Given the description of an element on the screen output the (x, y) to click on. 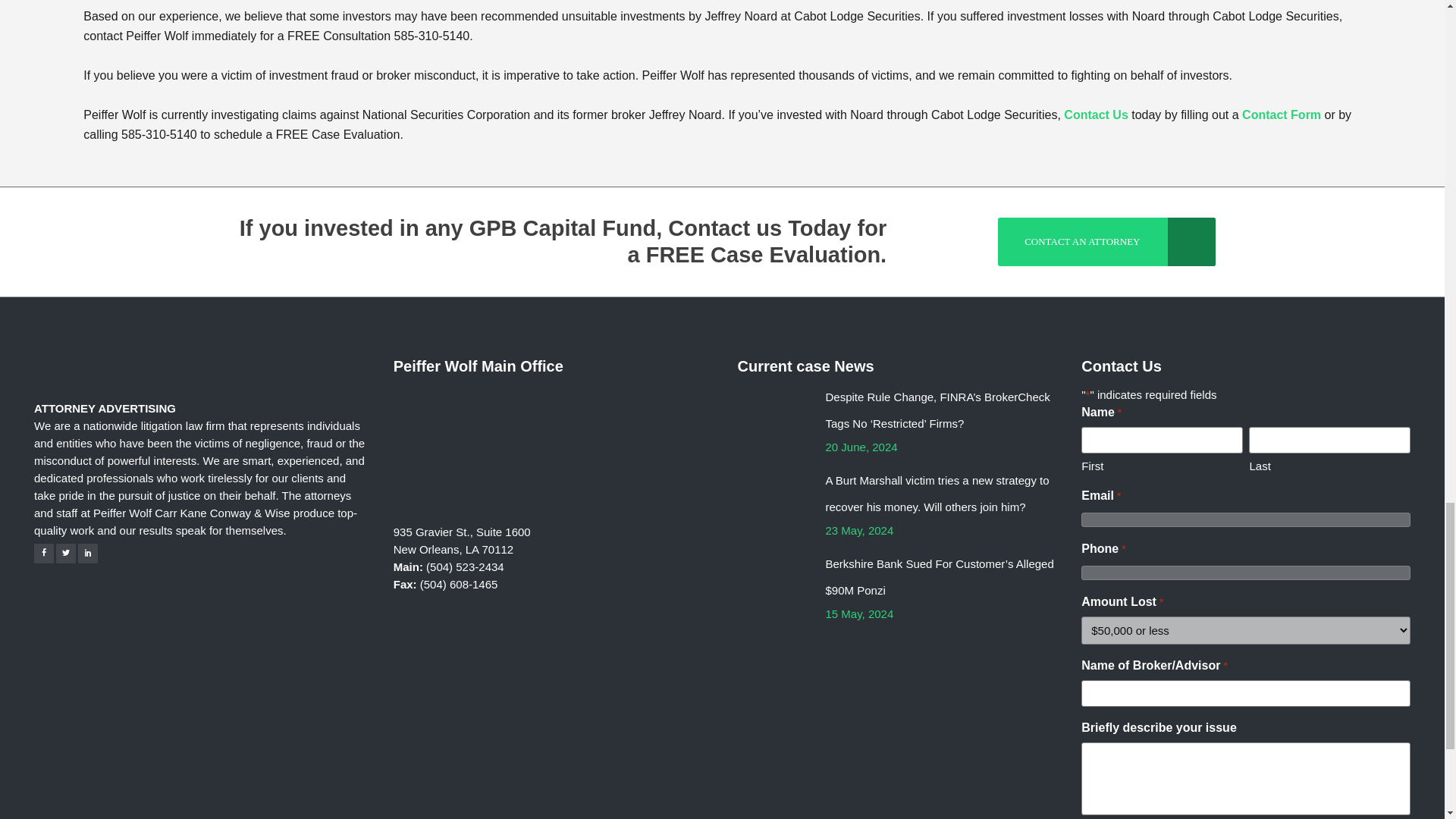
Click to open a larger map (507, 509)
Click to open a larger map (507, 449)
